Given the description of an element on the screen output the (x, y) to click on. 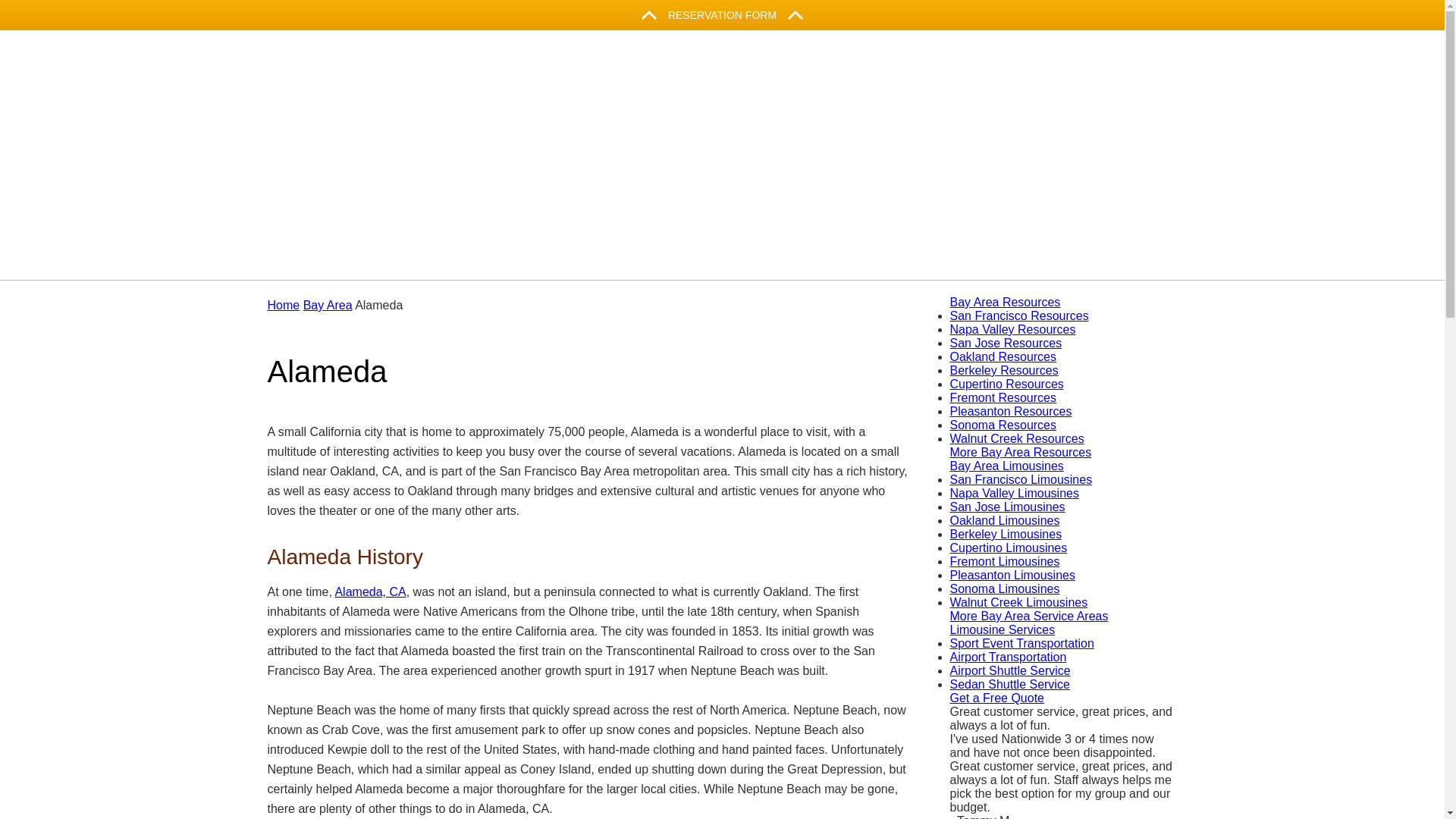
Home (721, 15)
Bay Area (282, 305)
Alameda, CA (327, 305)
Request a Quote (370, 591)
